Given the description of an element on the screen output the (x, y) to click on. 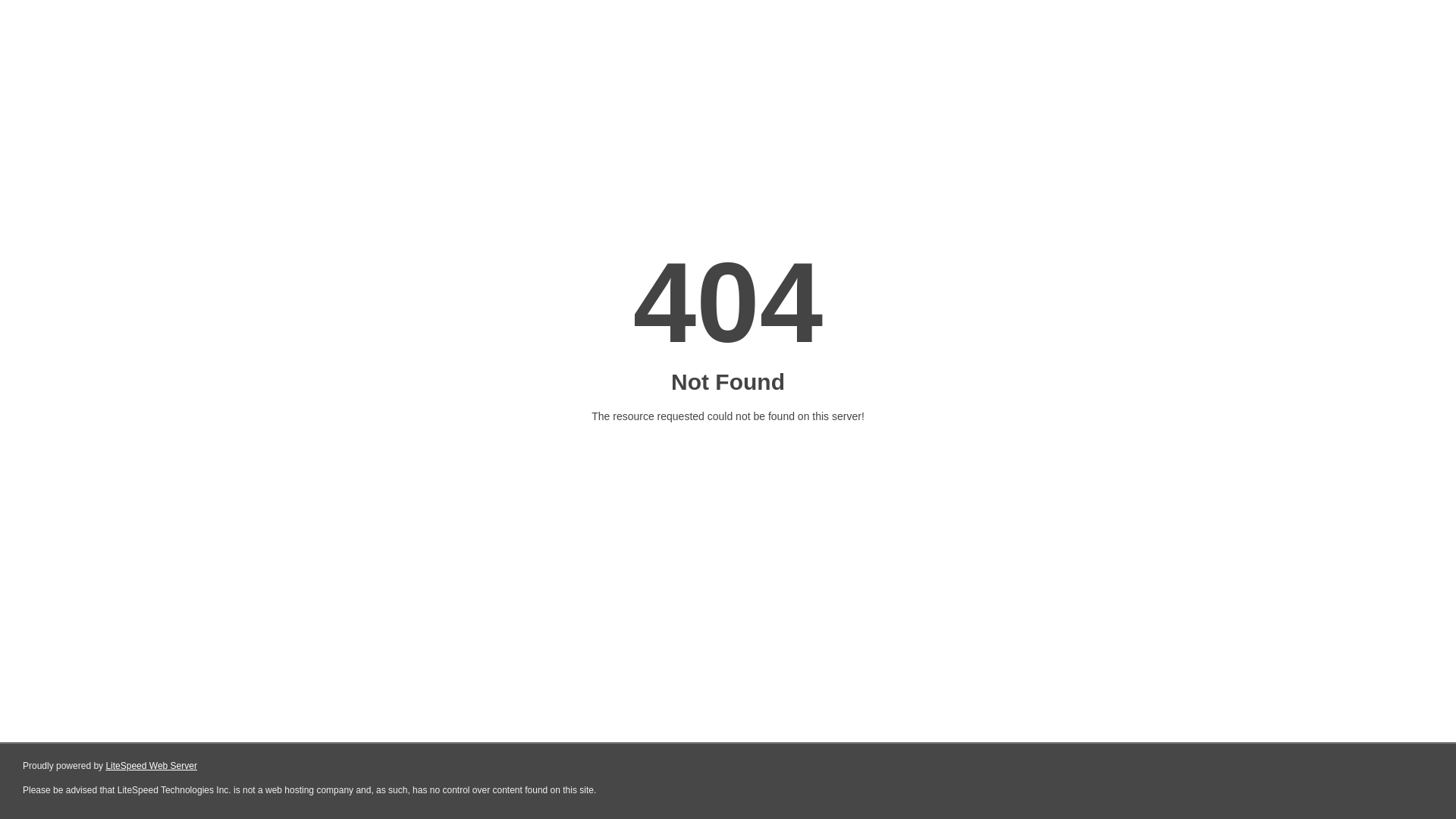
LiteSpeed Web Server (150, 765)
